Given the description of an element on the screen output the (x, y) to click on. 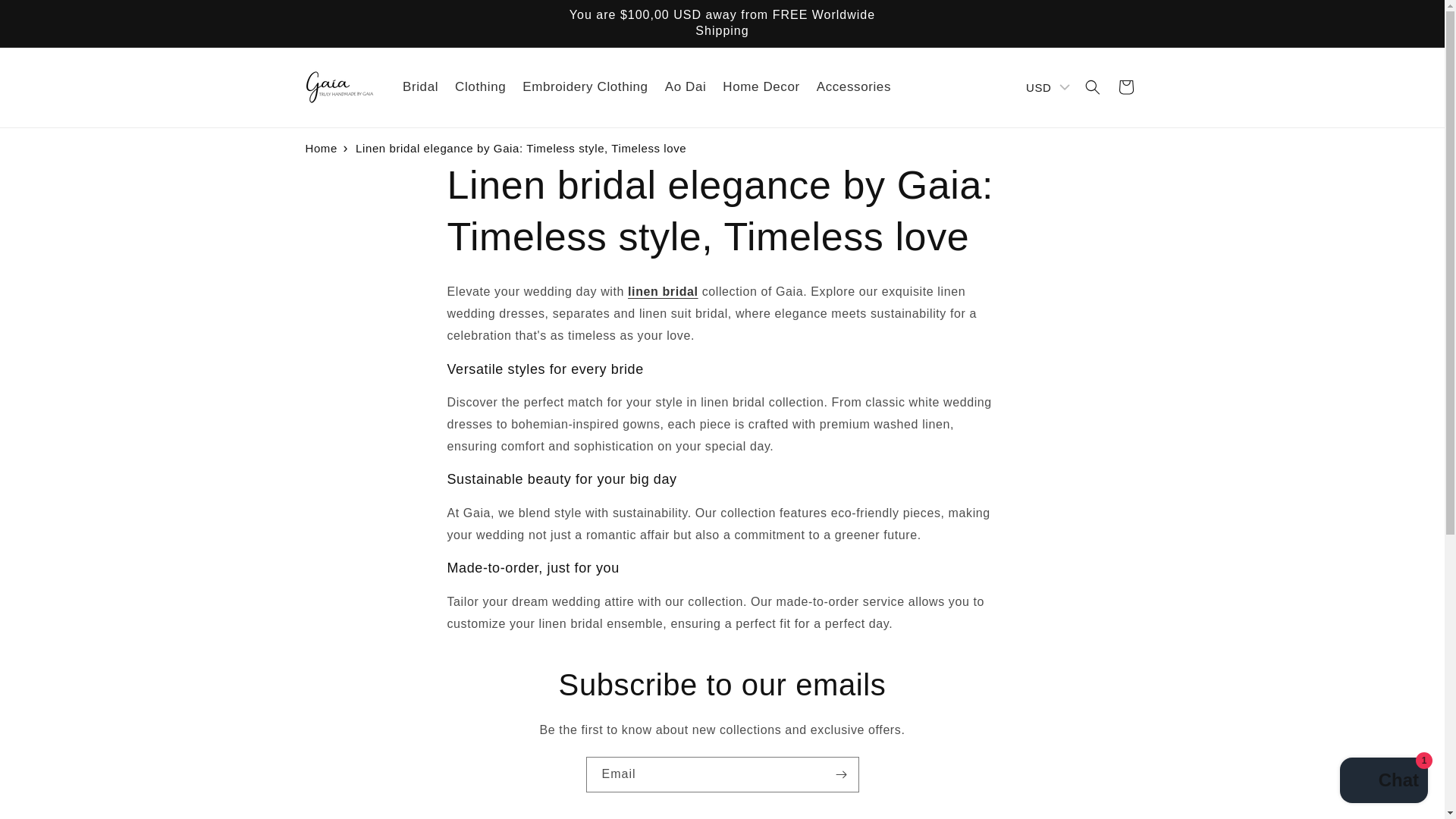
Skip to content (45, 17)
Home (320, 147)
Shopify online store chat (1383, 781)
